Given the description of an element on the screen output the (x, y) to click on. 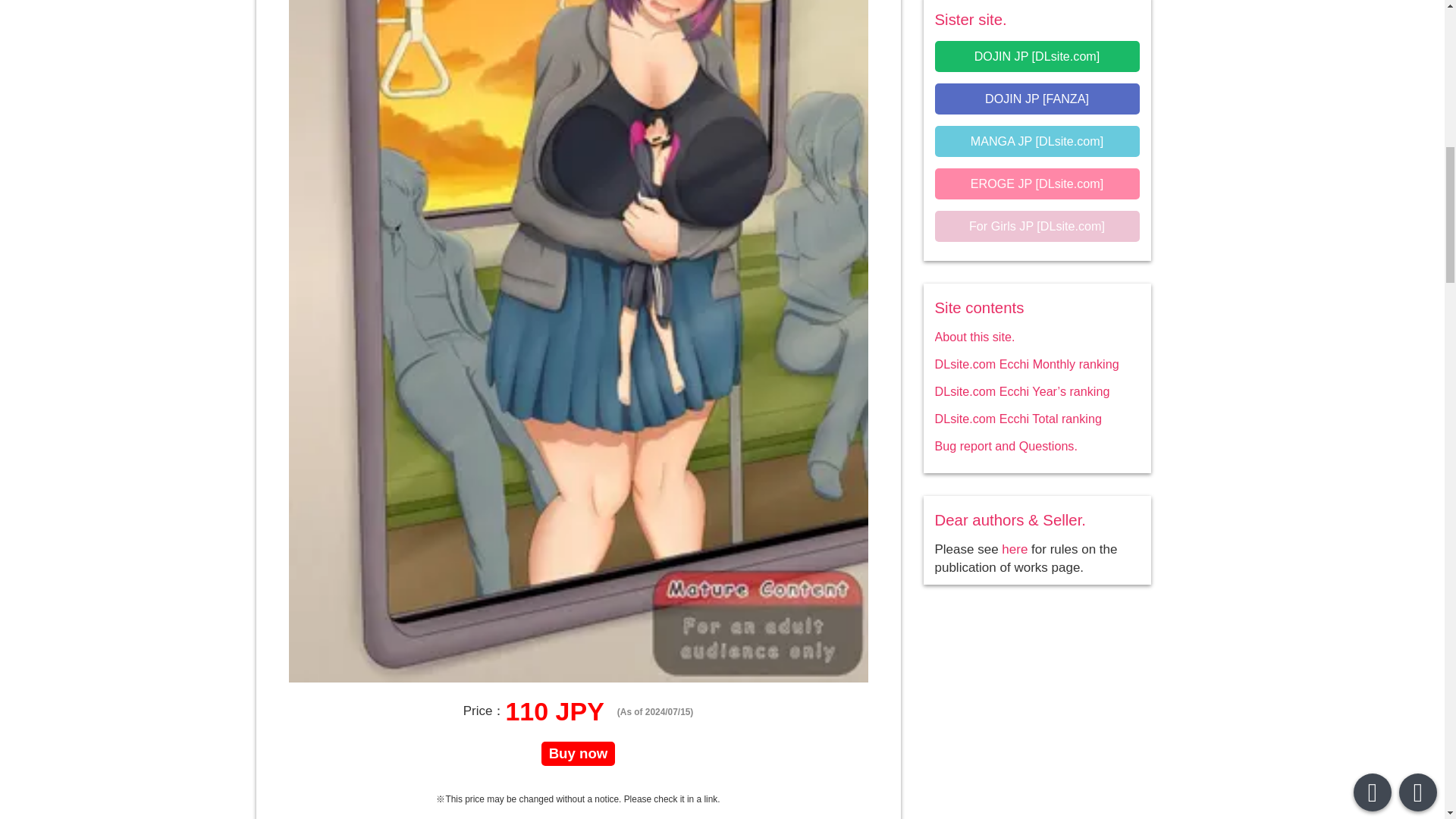
Buy now (578, 753)
